Given the description of an element on the screen output the (x, y) to click on. 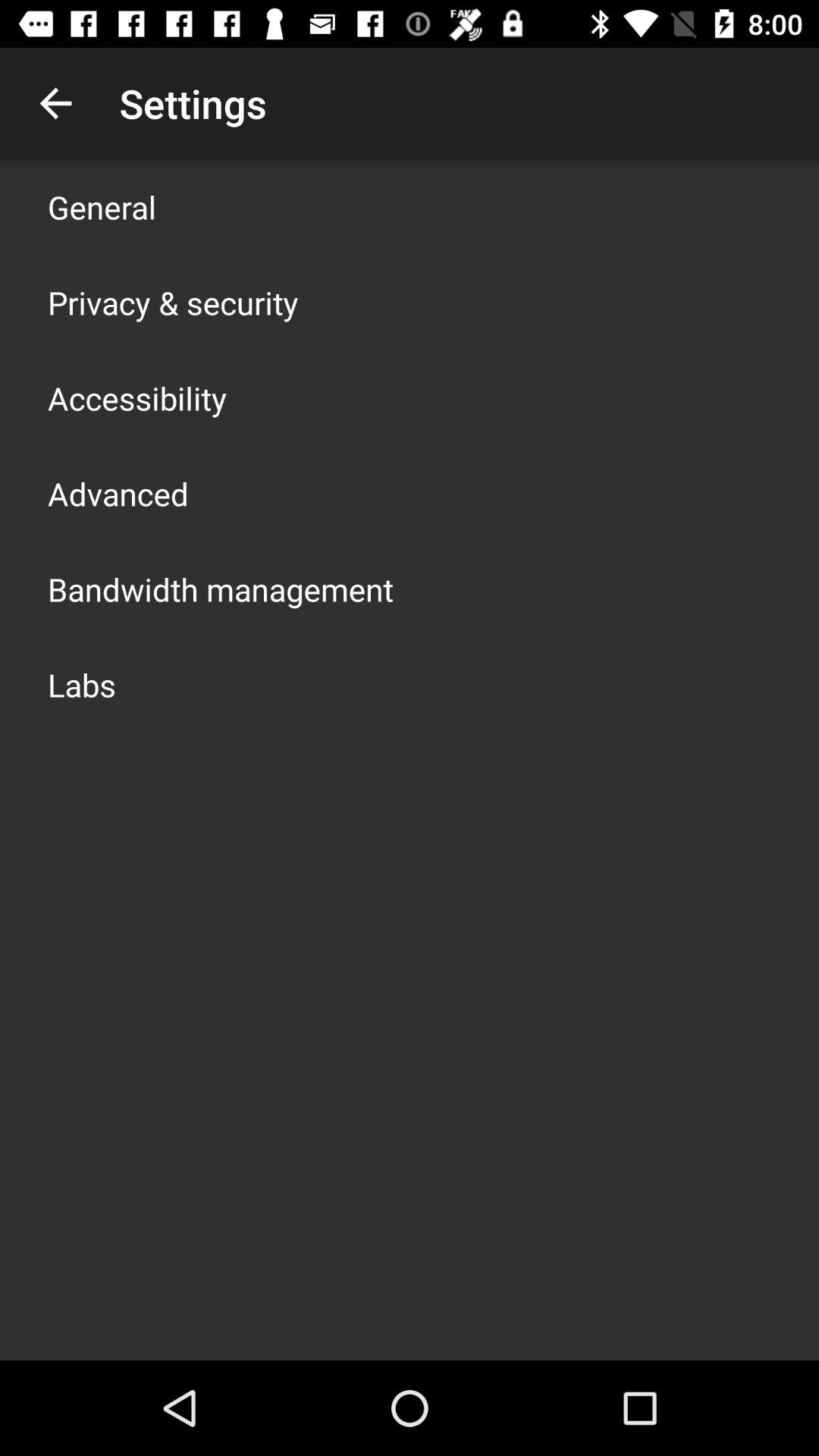
press the advanced icon (117, 493)
